Given the description of an element on the screen output the (x, y) to click on. 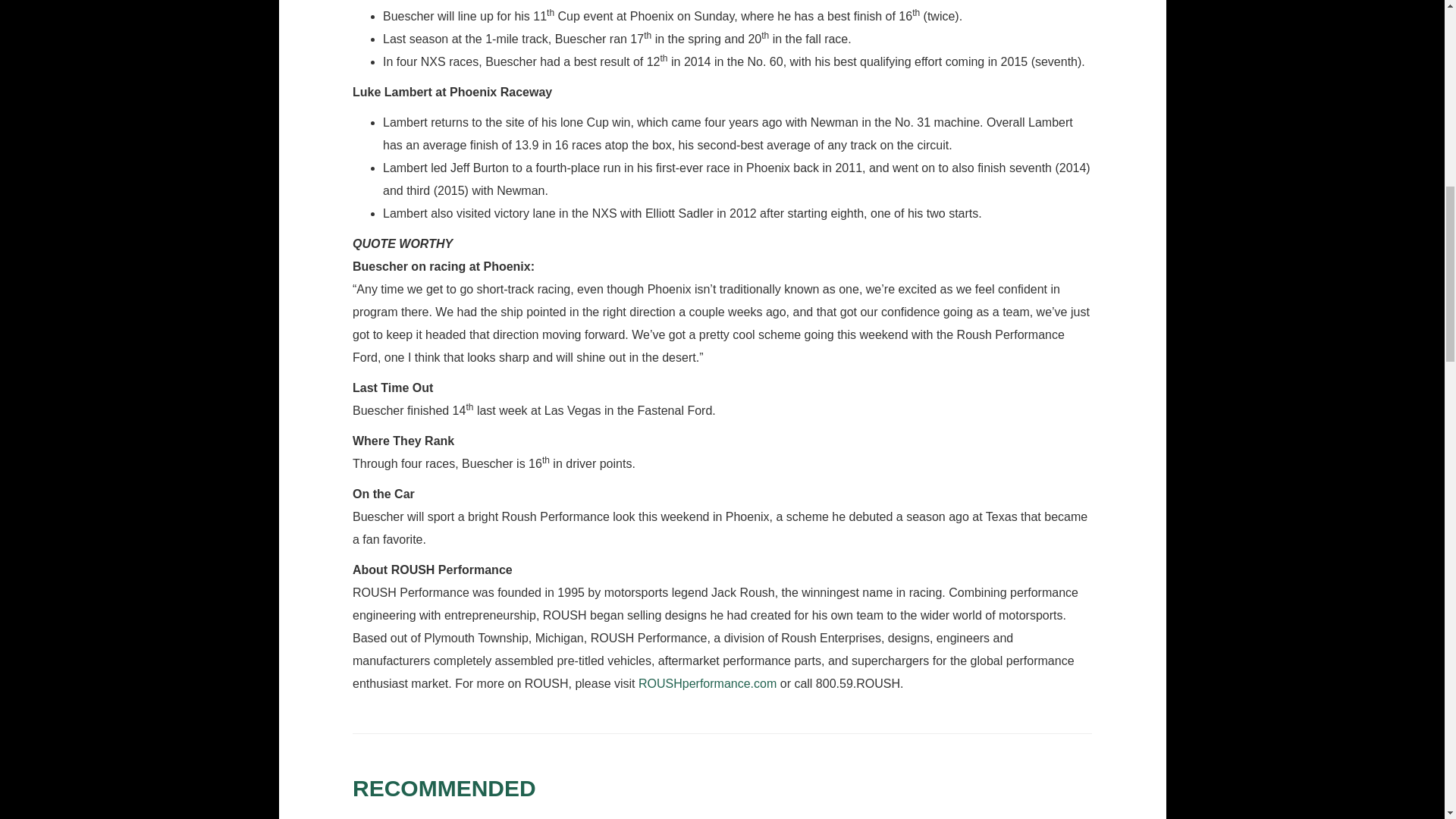
ROUSHperformance.com (707, 683)
